Given the description of an element on the screen output the (x, y) to click on. 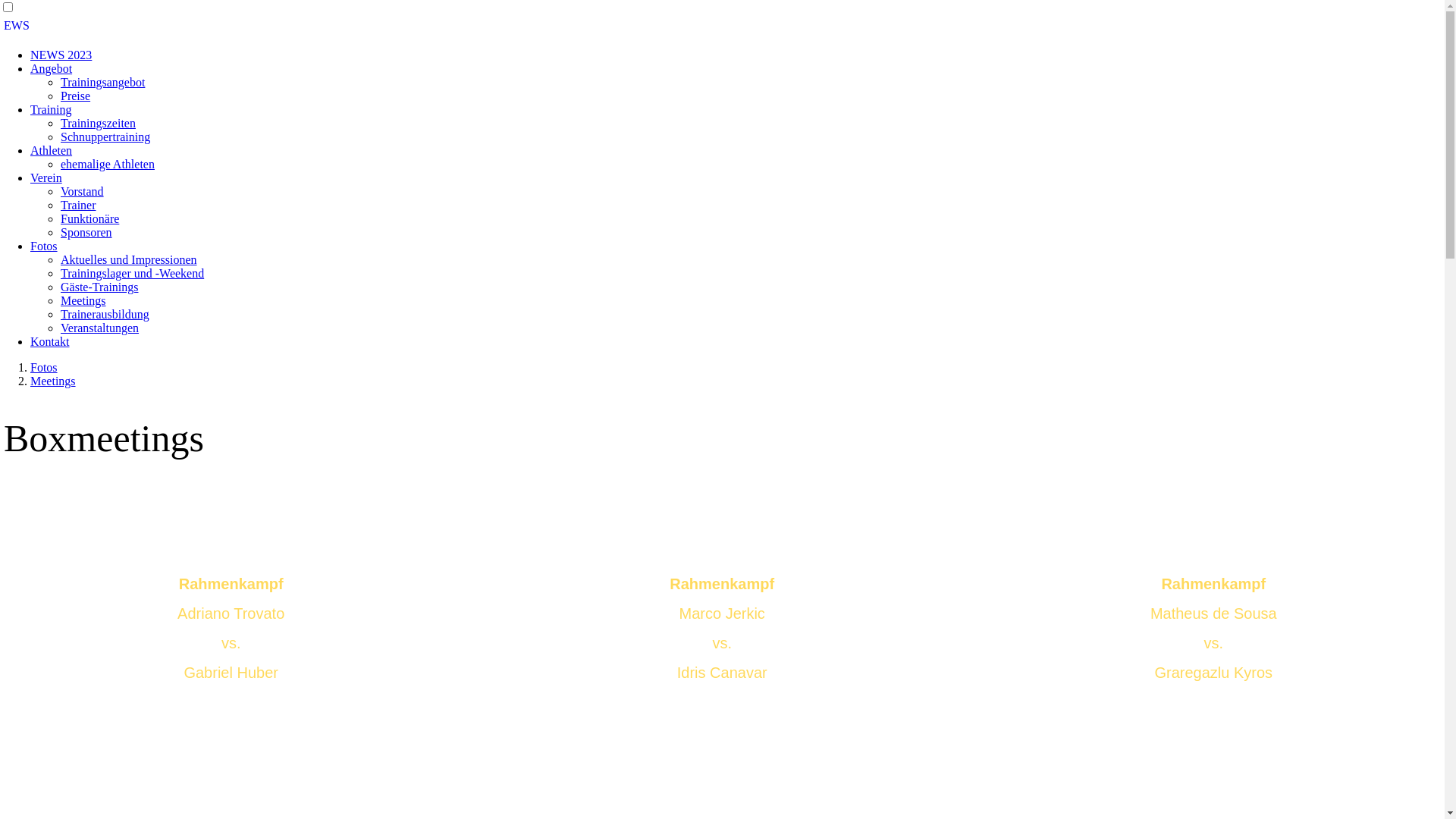
Angebot Element type: text (51, 68)
Meetings Element type: text (83, 300)
Trainingszeiten Element type: text (97, 122)
Verein Element type: text (46, 177)
EWS Element type: text (721, 25)
Vorstand Element type: text (81, 191)
Trainer Element type: text (78, 204)
Aktuelles und Impressionen Element type: text (128, 259)
ehemalige Athleten Element type: text (107, 163)
NEWS 2023 Element type: text (60, 54)
Sponsoren Element type: text (86, 231)
Trainingsangebot Element type: text (102, 81)
Meetings Element type: text (52, 380)
Athleten Element type: text (51, 150)
Preise Element type: text (75, 95)
Veranstaltungen Element type: text (99, 327)
Training Element type: text (51, 109)
Schnuppertraining Element type: text (105, 136)
Trainingslager und -Weekend Element type: text (131, 272)
Kontakt Element type: text (49, 341)
Trainerausbildung Element type: text (104, 313)
Fotos Element type: text (43, 366)
Fotos Element type: text (43, 245)
